Given the description of an element on the screen output the (x, y) to click on. 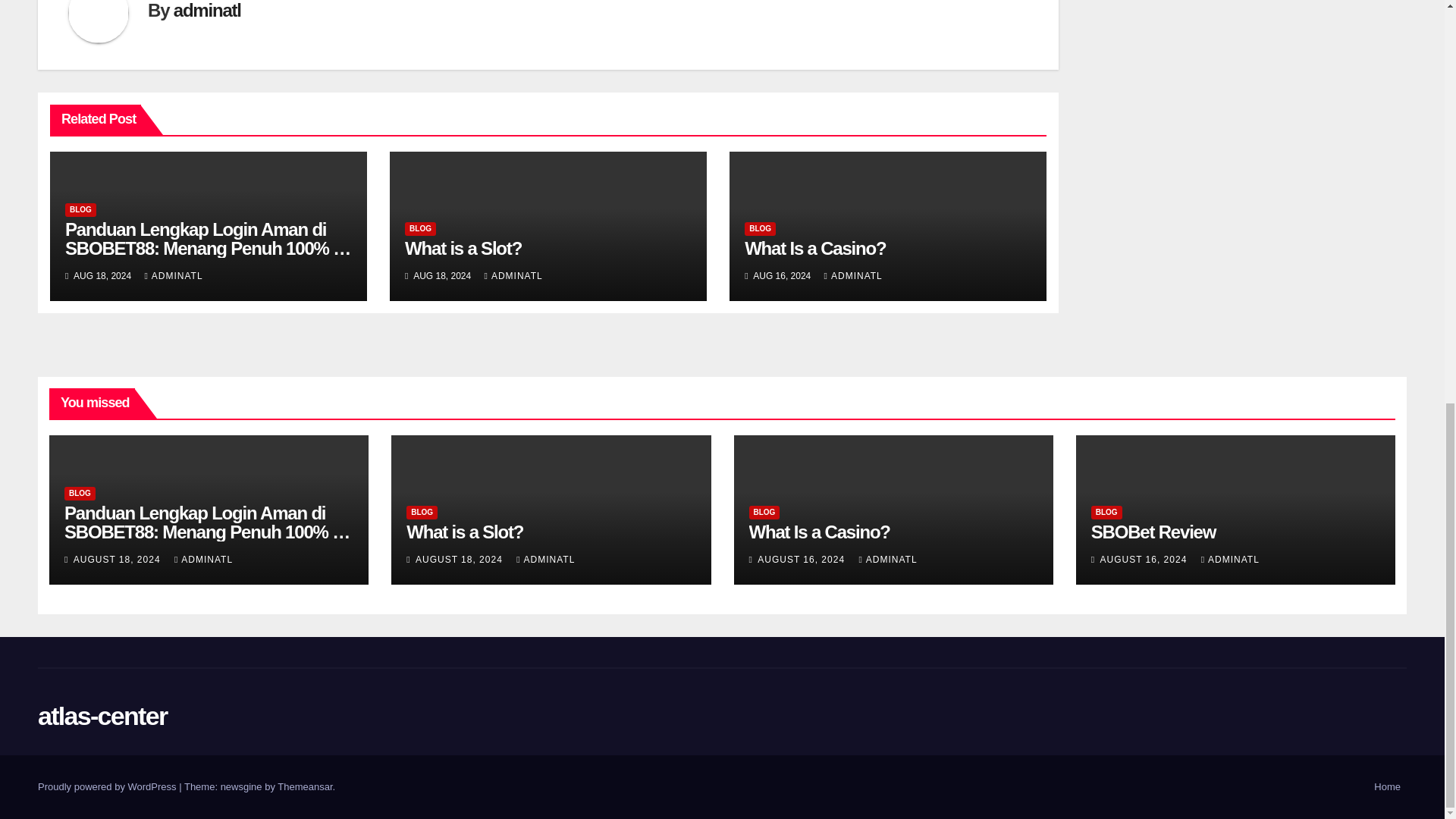
BLOG (419, 228)
What Is a Casino? (814, 248)
Permalink to: What Is a Casino? (819, 531)
What is a Slot? (462, 248)
Permalink to: What Is a Casino? (814, 248)
BLOG (80, 210)
adminatl (207, 10)
ADMINATL (513, 276)
ADMINATL (173, 276)
Home (1387, 786)
